Given the description of an element on the screen output the (x, y) to click on. 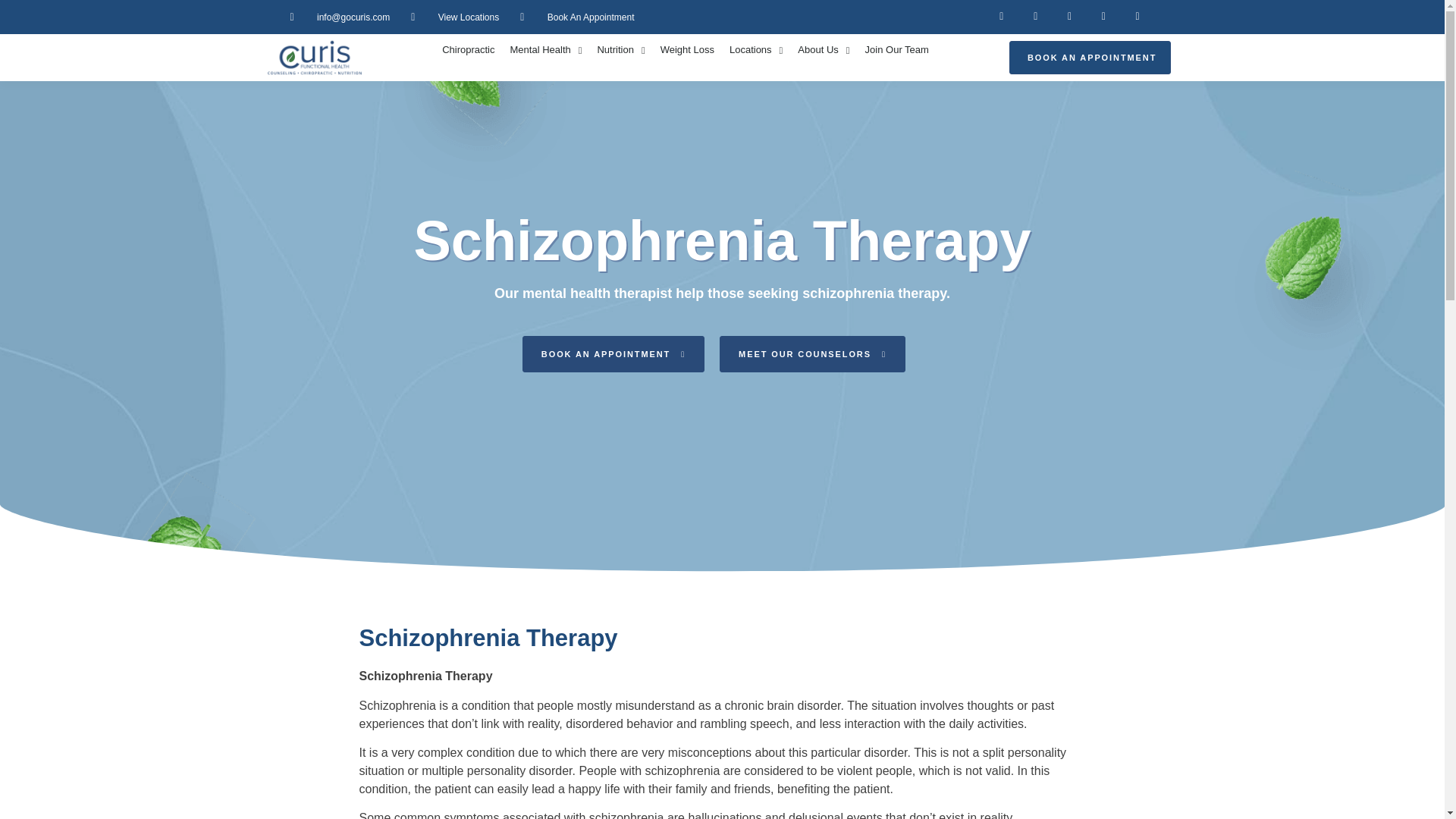
Locations (756, 50)
Weight Loss (687, 50)
Nutrition (620, 50)
Mental Health (545, 50)
View Locations (454, 17)
Book An Appointment (576, 17)
Chiropractic (467, 50)
